Given the description of an element on the screen output the (x, y) to click on. 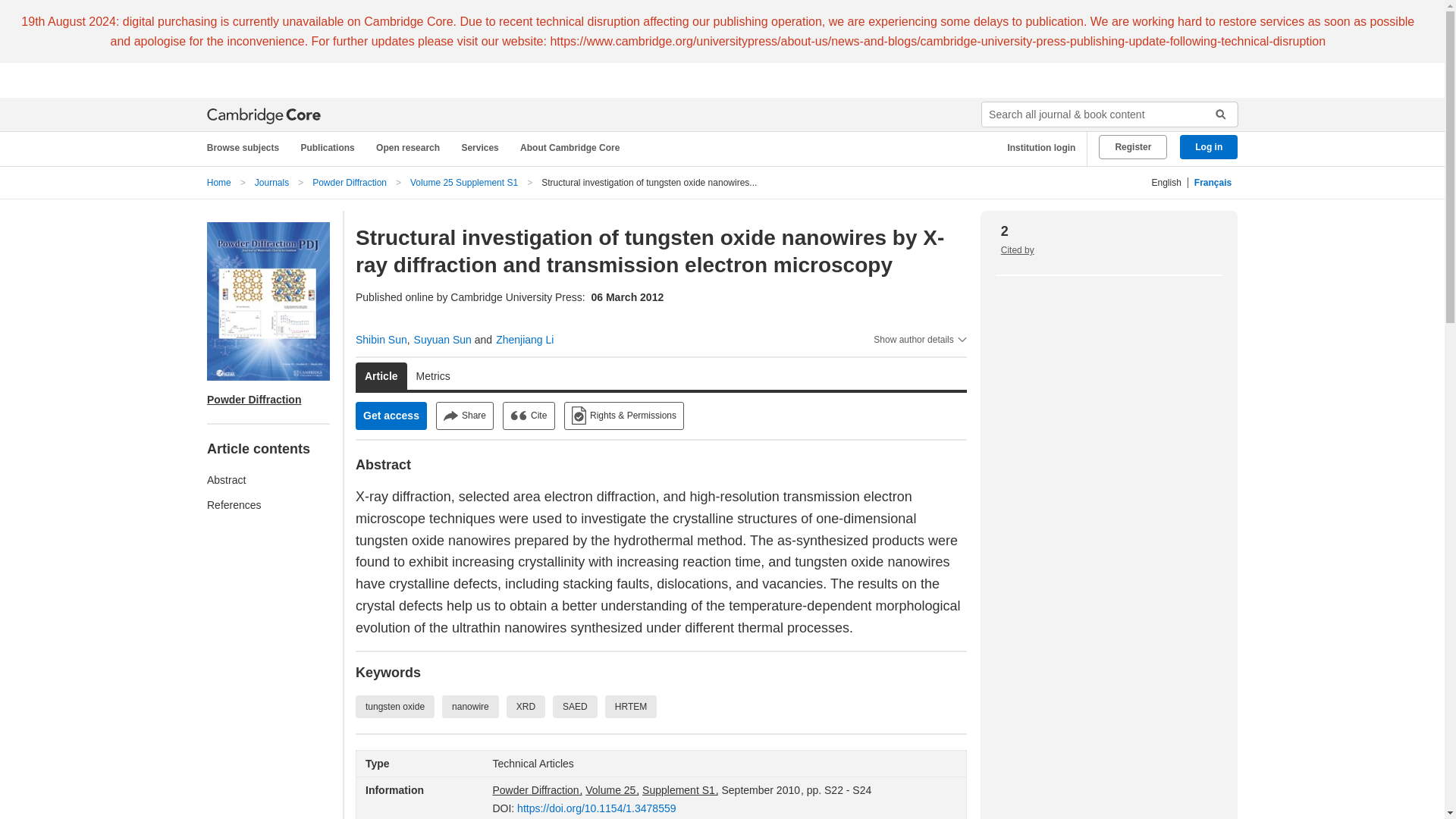
Journals (271, 182)
Register (1133, 146)
About Cambridge Core (572, 147)
Powder Diffraction (350, 182)
Log in (1208, 146)
Submit search (1214, 114)
Open research (410, 147)
Browse subjects (250, 147)
Submit search (1214, 114)
Services (482, 147)
